Given the description of an element on the screen output the (x, y) to click on. 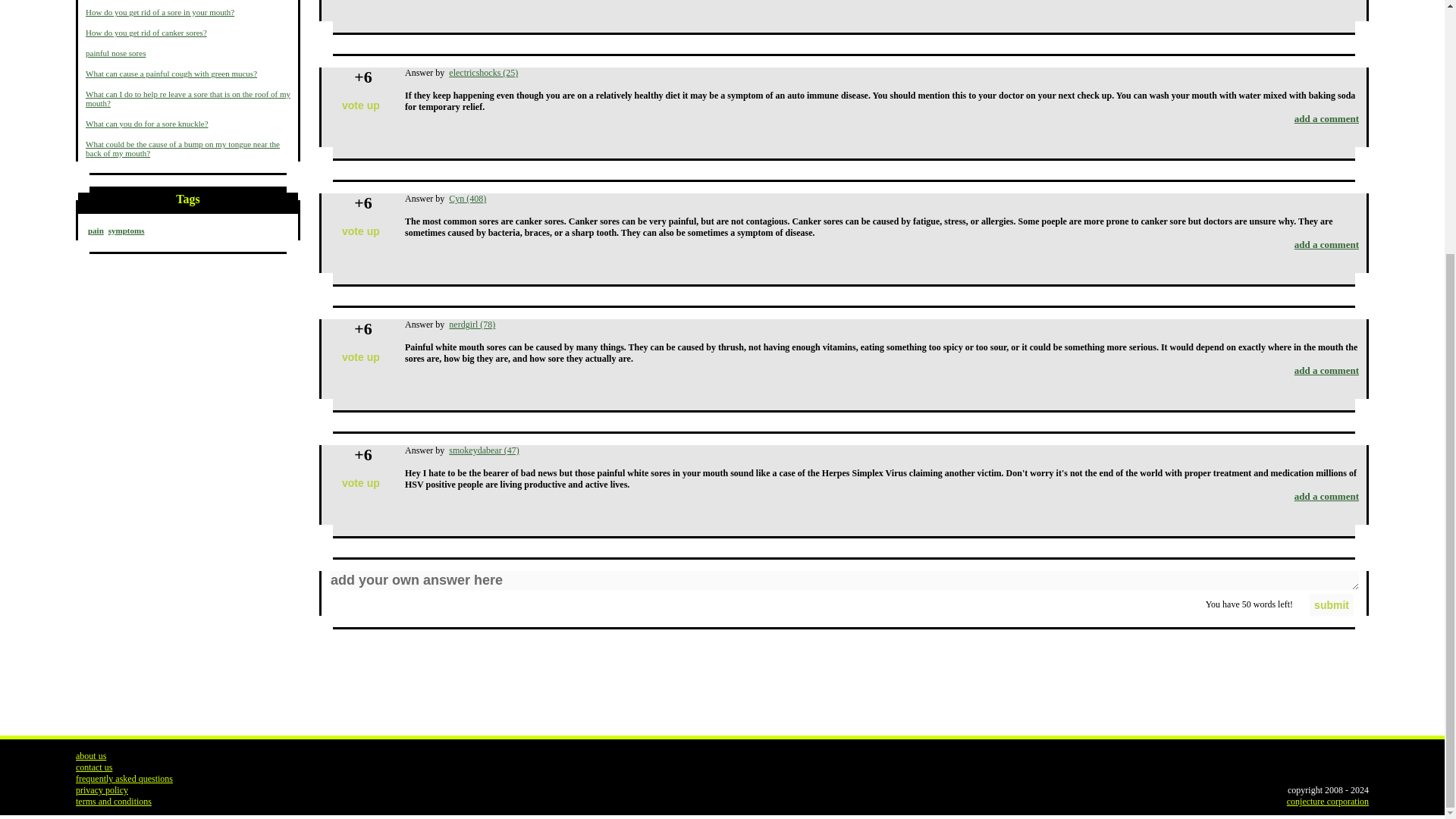
add a comment (1326, 369)
vote up (361, 357)
symptoms (125, 230)
painful nose sores (115, 52)
Tags (187, 202)
How do you get rid of canker sores? (145, 31)
add a comment (1326, 118)
vote up (361, 231)
